Given the description of an element on the screen output the (x, y) to click on. 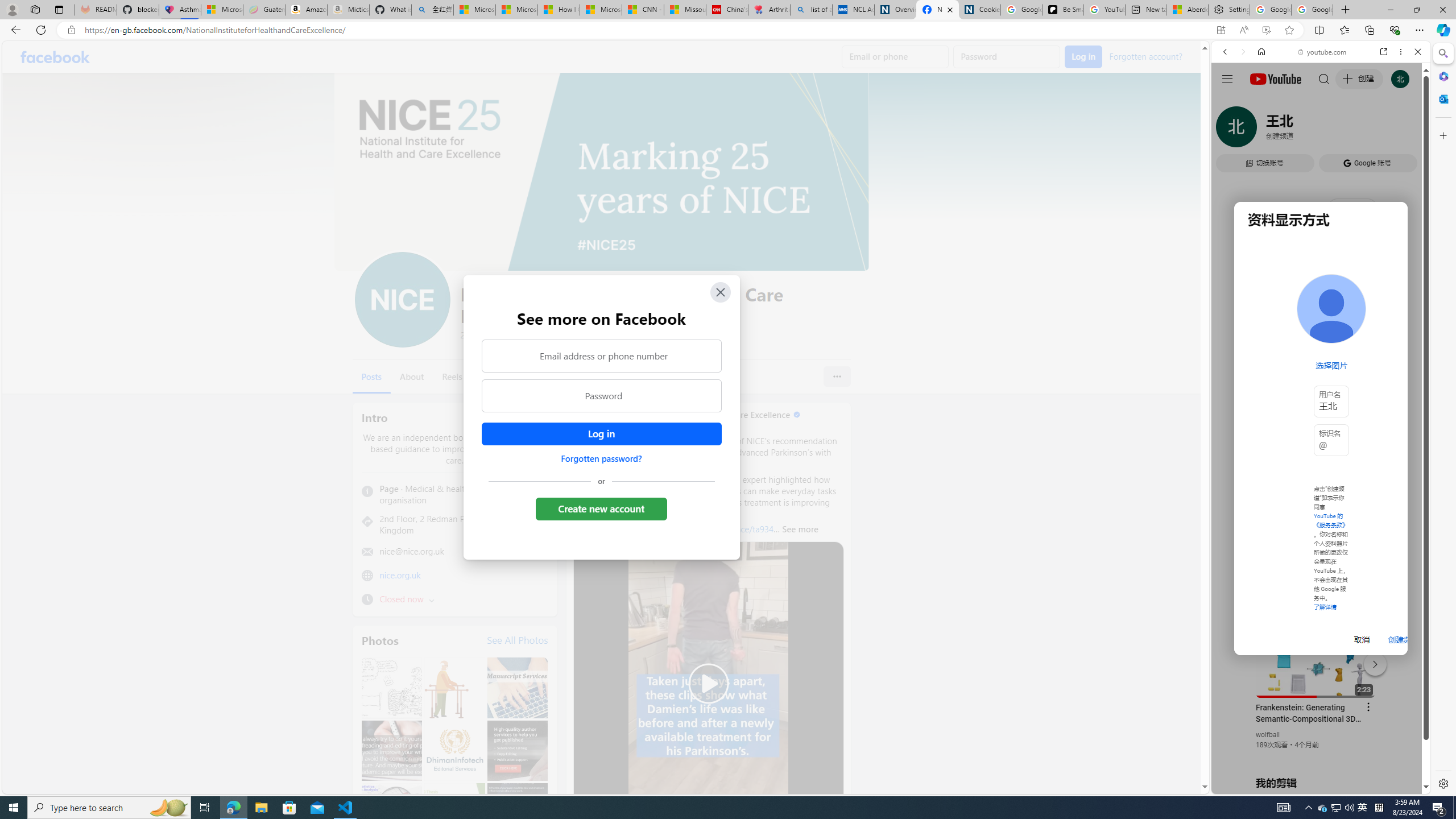
Enhance video (1266, 29)
Email or phone (895, 56)
Facebook (55, 56)
